Given the description of an element on the screen output the (x, y) to click on. 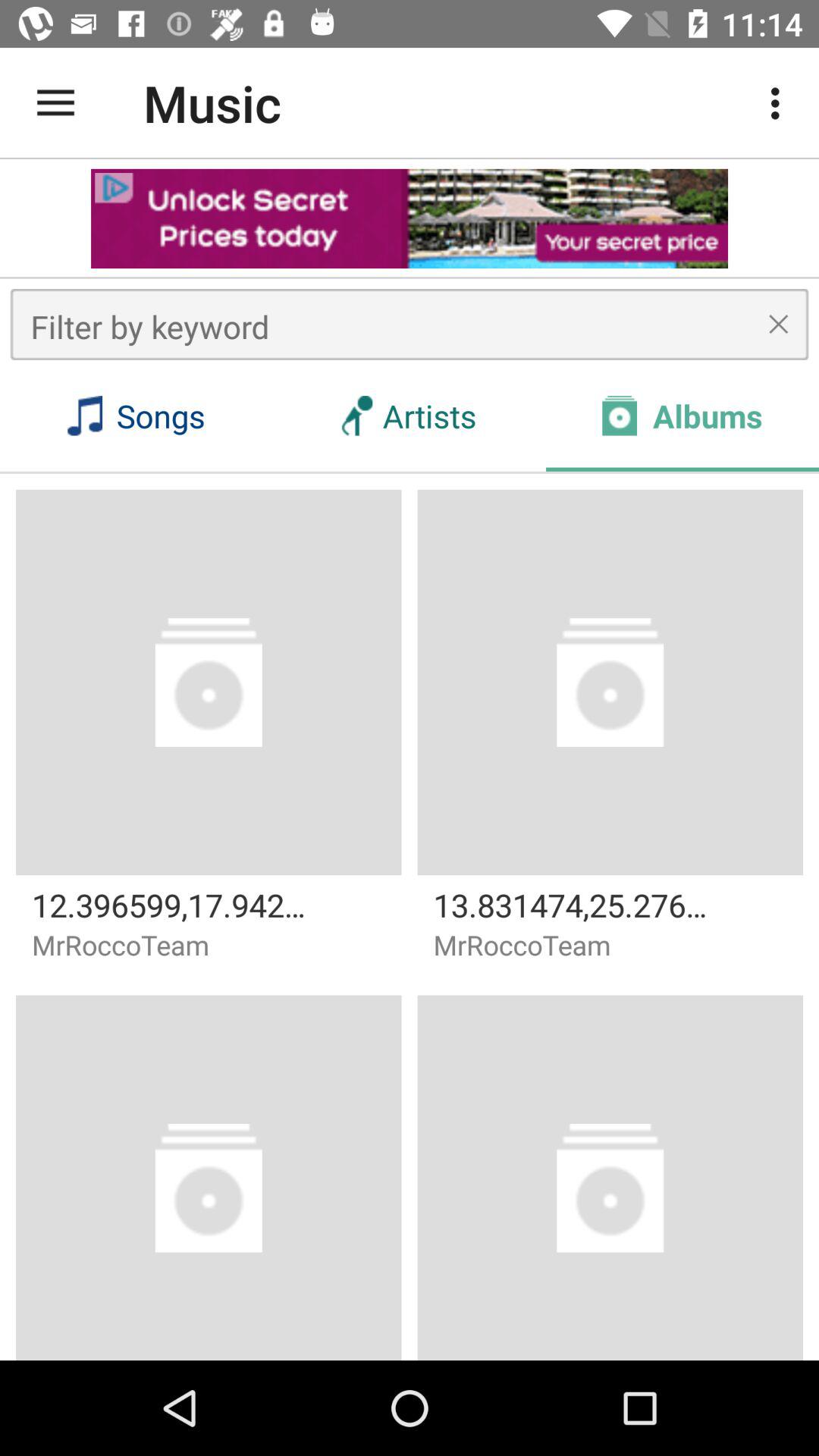
select the symbol (778, 324)
